Given the description of an element on the screen output the (x, y) to click on. 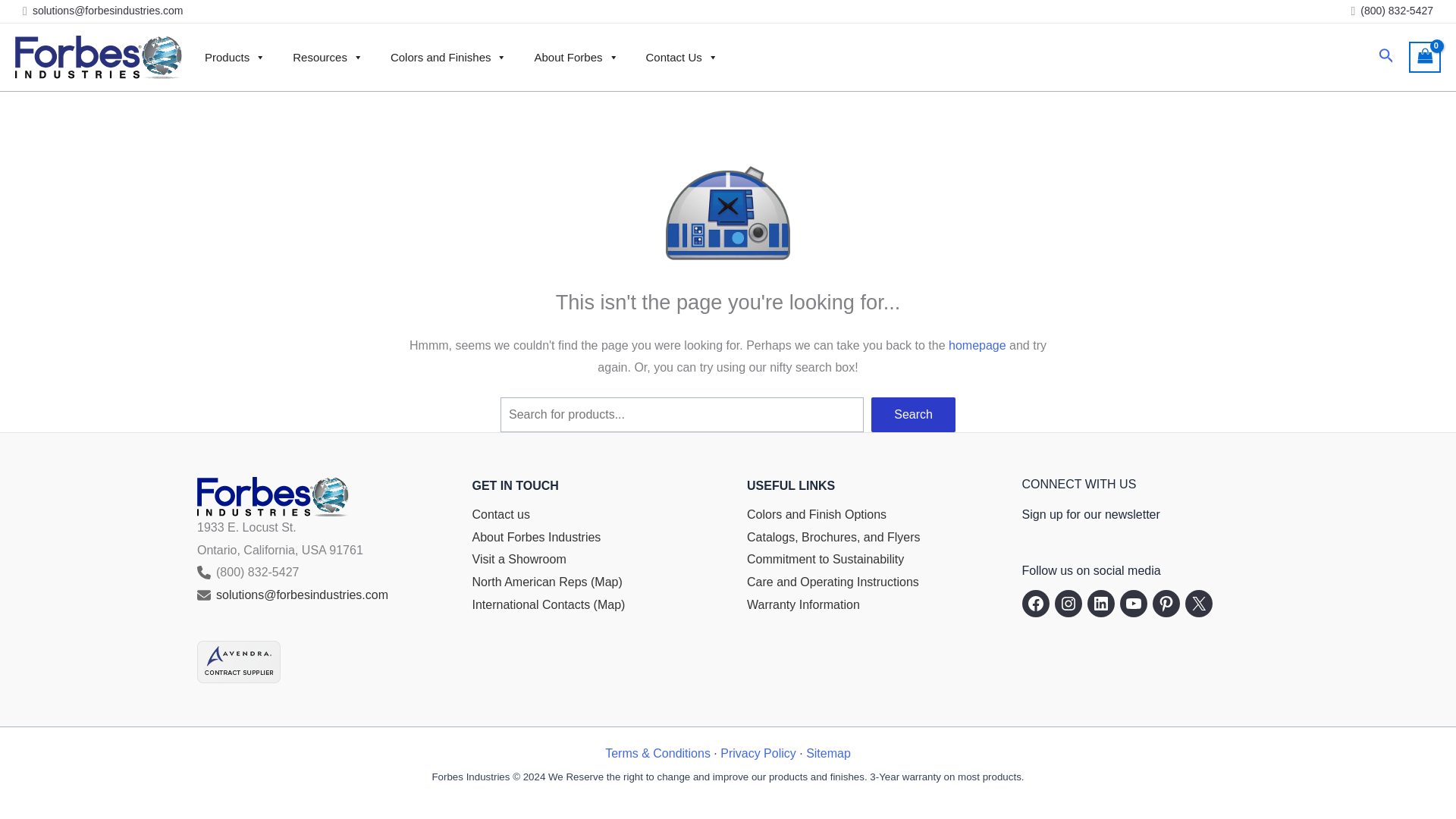
Products (234, 57)
